Given the description of an element on the screen output the (x, y) to click on. 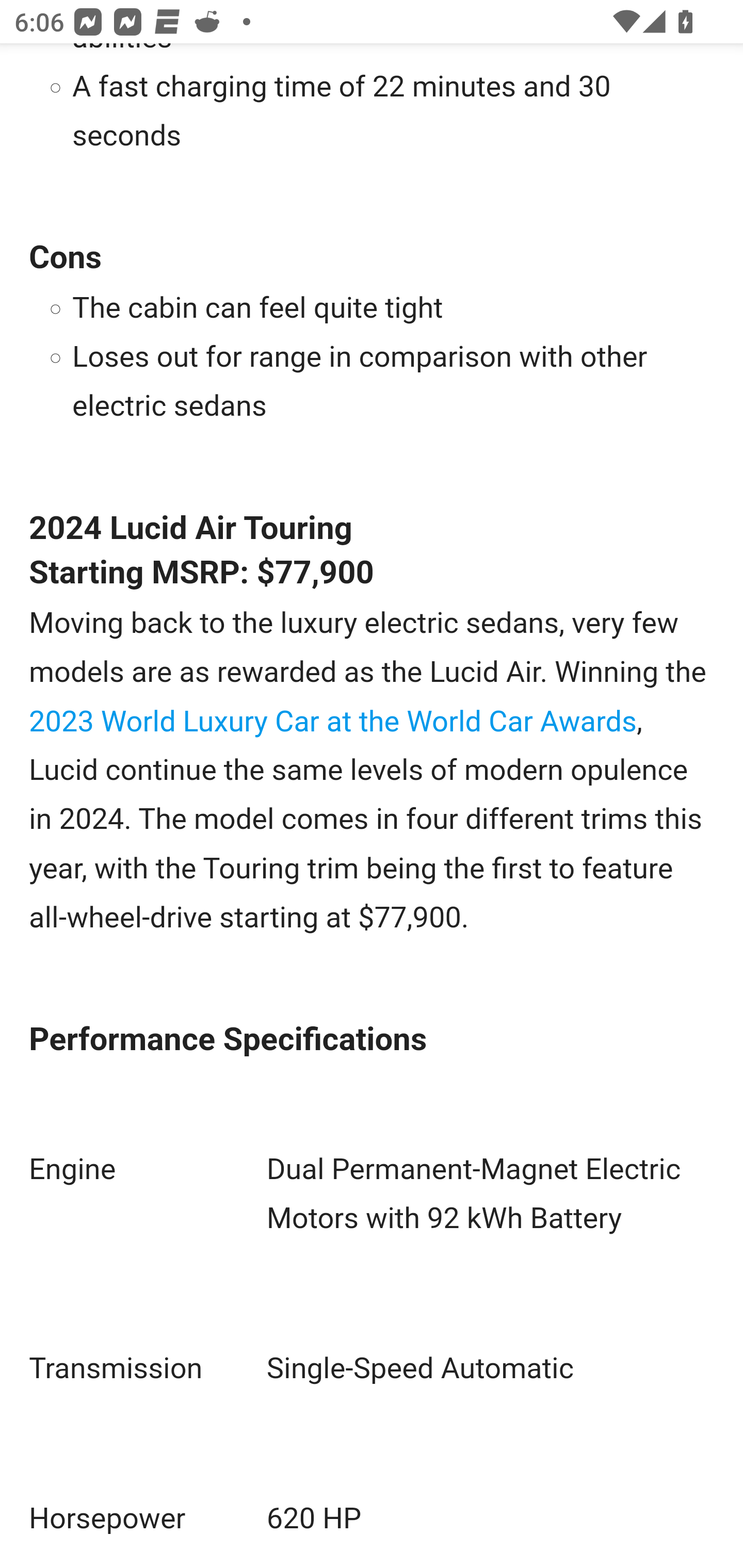
2023 World Luxury Car at the World Car Awards (332, 720)
